Given the description of an element on the screen output the (x, y) to click on. 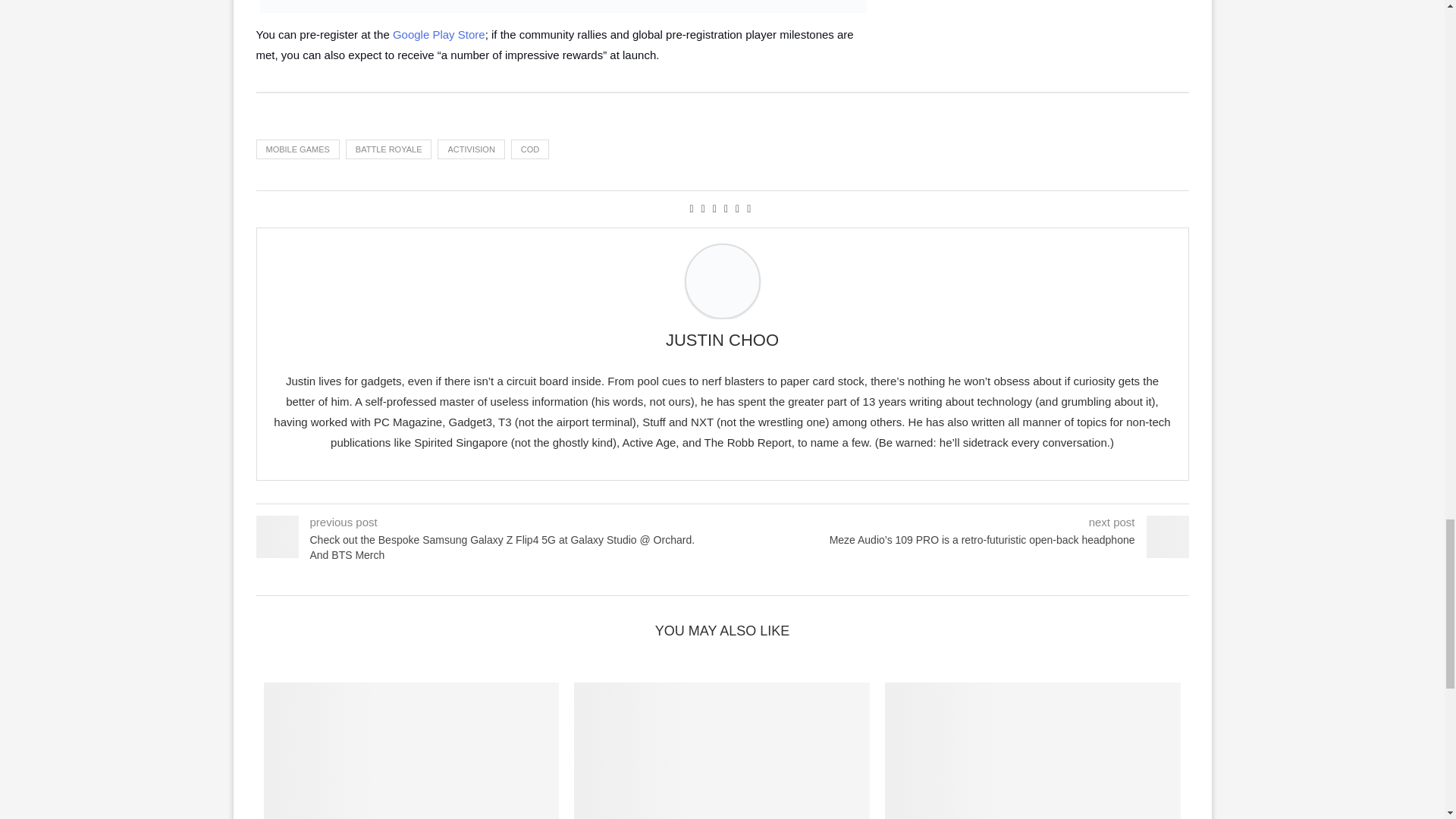
COD (529, 148)
December Games Roundup: 2022 ends with a couple of bangers (721, 750)
ACTIVISION (470, 148)
BATTLE ROYALE (389, 148)
JUSTIN CHOO (721, 340)
Author Justin Choo (721, 340)
MOBILE GAMES (297, 148)
Google Play Store (438, 33)
